Given the description of an element on the screen output the (x, y) to click on. 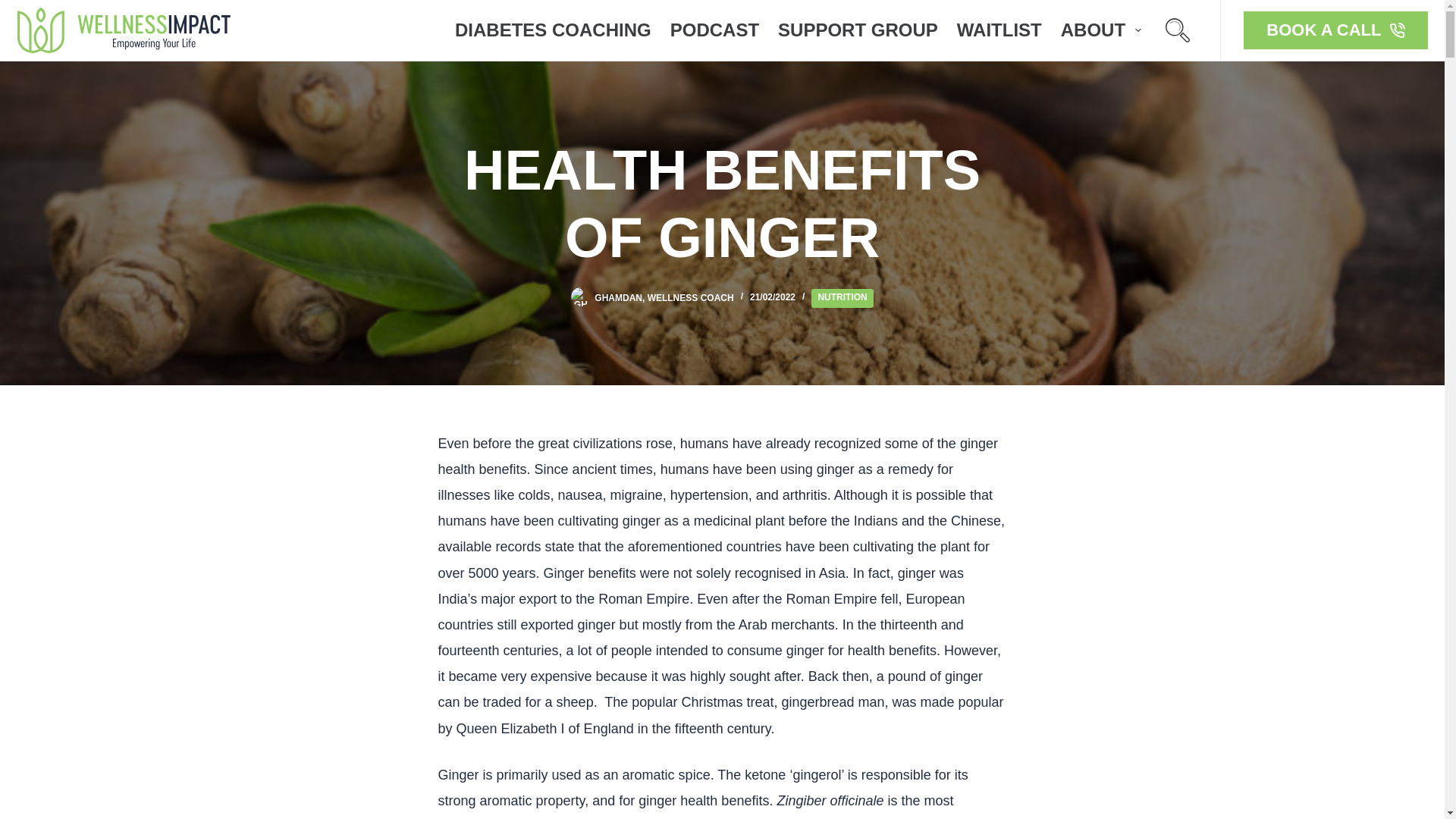
Posts by Ghamdan, Wellness Coach (663, 296)
WAITLIST (999, 30)
SUPPORT GROUP (857, 30)
PODCAST (714, 30)
GHAMDAN, WELLNESS COACH (663, 296)
ABOUT (1100, 30)
DIABETES COACHING (553, 30)
Skip to content (15, 7)
NUTRITION (841, 298)
BOOK A CALL (1334, 30)
Health Benefits Of Ginger (722, 204)
